Given the description of an element on the screen output the (x, y) to click on. 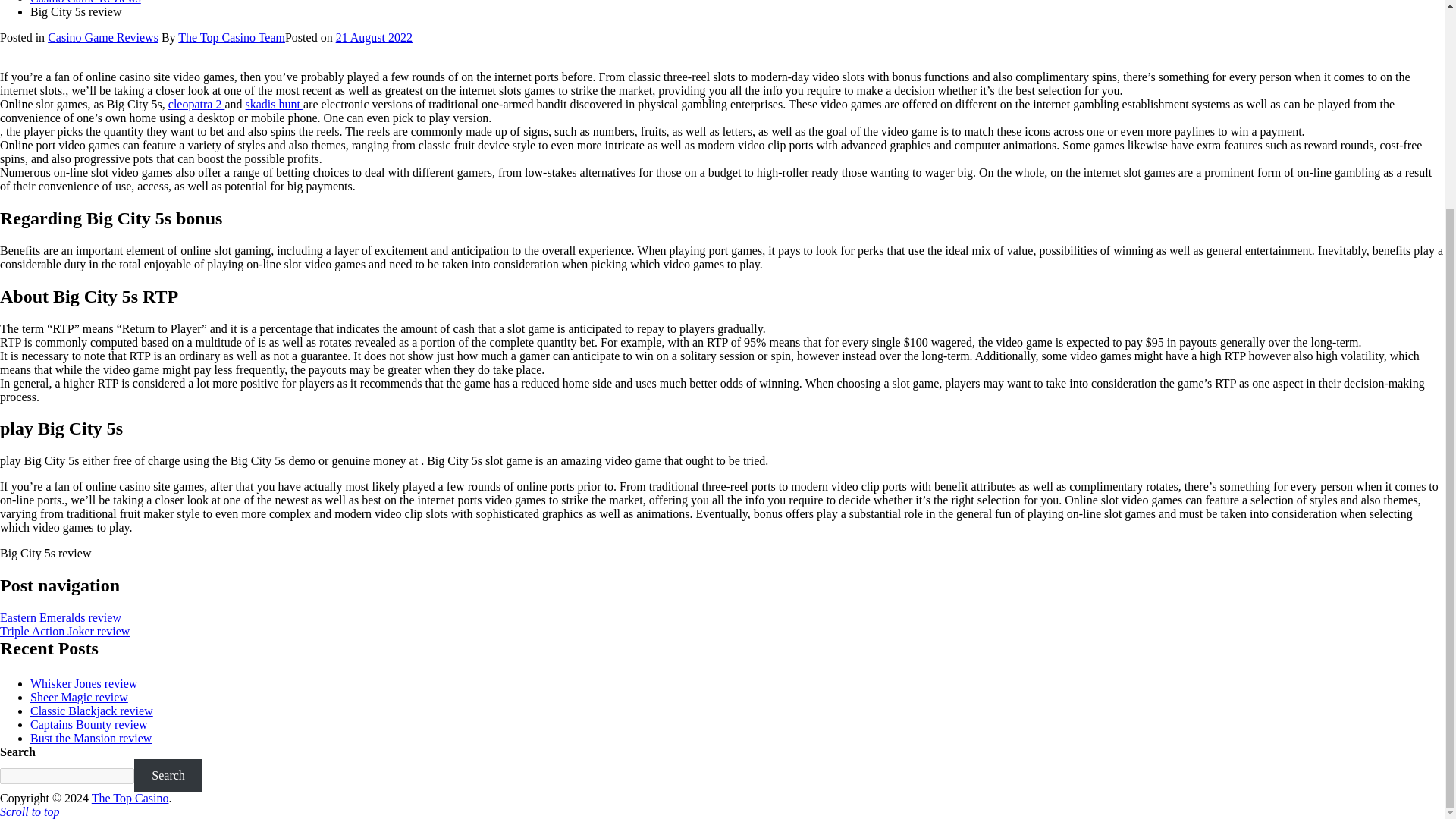
Captains Bounty review (89, 724)
Triple Action Joker review (64, 631)
The Top Casino Team (231, 37)
21 August 2022 (374, 37)
The Top Casino (129, 797)
Scroll to top (29, 811)
Whisker Jones review (83, 683)
Casino Game Reviews (85, 2)
Bust the Mansion review (90, 738)
cleopatra 2 (196, 103)
skadis hunt (274, 103)
Search (167, 775)
The Top Casino (129, 797)
Casino Game Reviews (103, 37)
Eastern Emeralds review (60, 617)
